Given the description of an element on the screen output the (x, y) to click on. 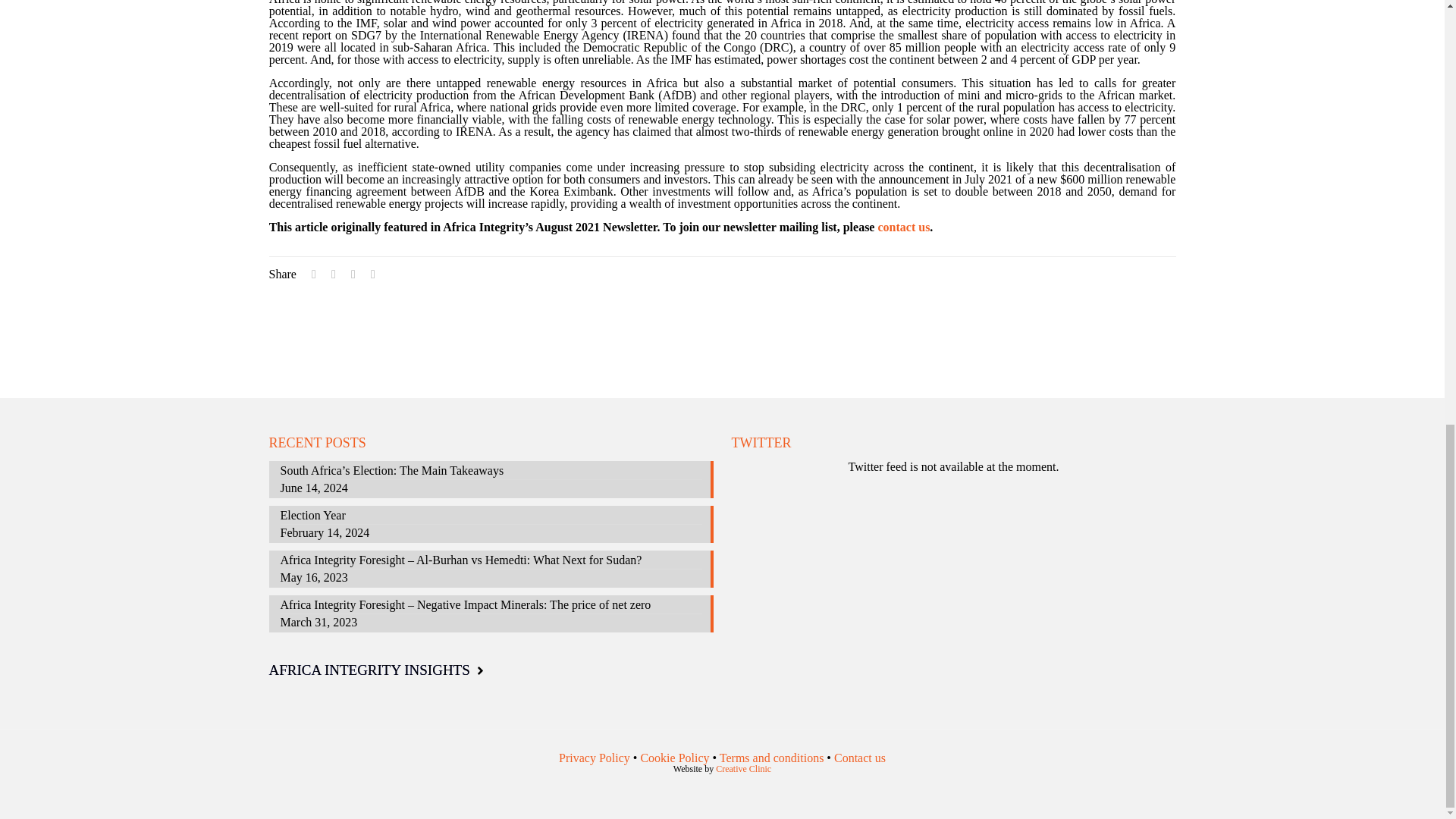
Election Year (491, 516)
contact us (903, 226)
